Given the description of an element on the screen output the (x, y) to click on. 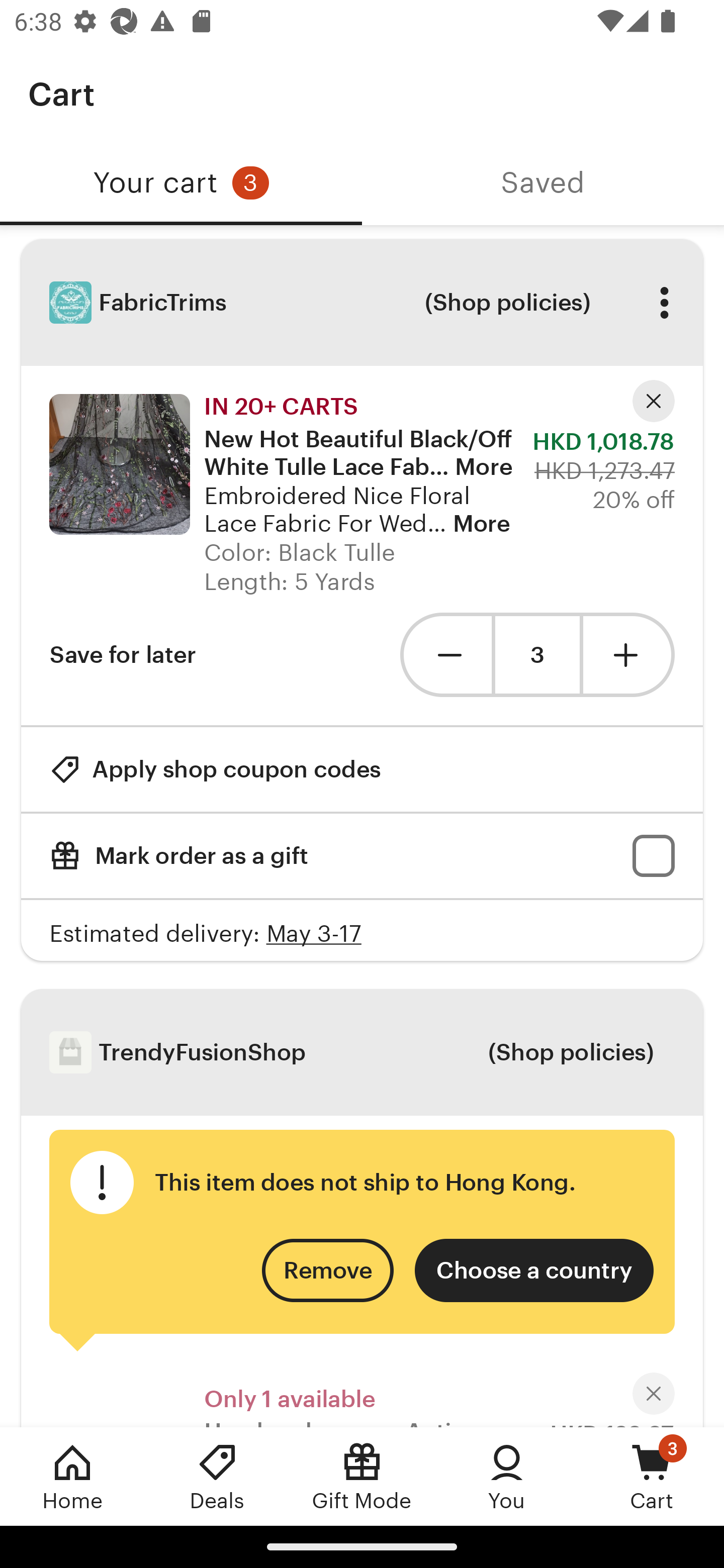
Saved, tab 2 of 2 Saved (543, 183)
FabricTrims (Shop policies) More options (361, 302)
(Shop policies) (507, 302)
More options (663, 302)
Save for later (122, 655)
Remove one unit from cart (445, 655)
Add one unit to cart (628, 655)
3 (537, 655)
Apply shop coupon codes (215, 769)
Mark order as a gift (361, 855)
TrendyFusionShop (Shop policies) (361, 1052)
(Shop policies) (570, 1051)
Remove (327, 1269)
Choose a country (533, 1269)
Home (72, 1475)
Deals (216, 1475)
Gift Mode (361, 1475)
You (506, 1475)
